Given the description of an element on the screen output the (x, y) to click on. 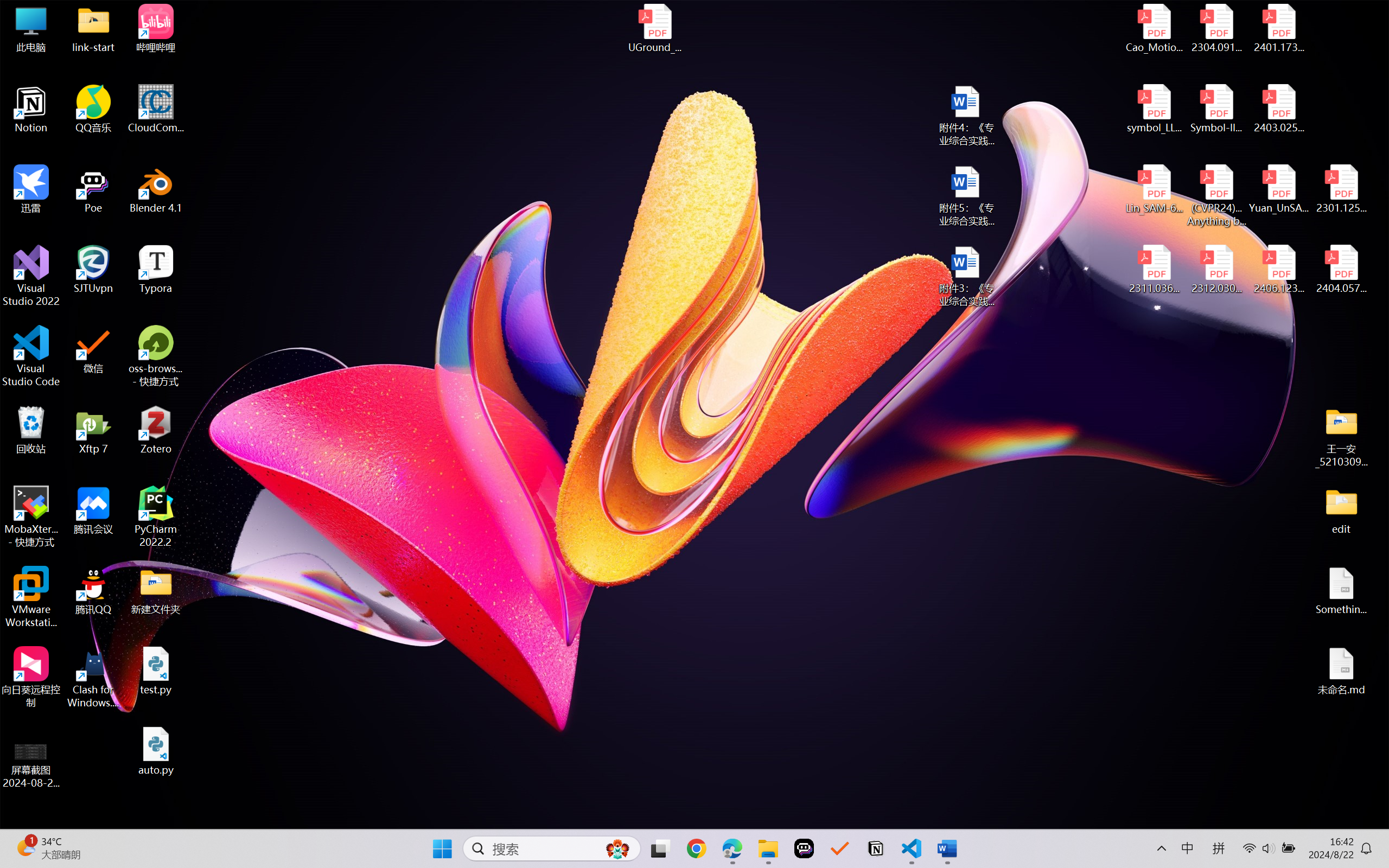
Blender 4.1 (156, 189)
2406.12373v2.pdf (1278, 269)
(CVPR24)Matching Anything by Segmenting Anything.pdf (1216, 195)
